Given the description of an element on the screen output the (x, y) to click on. 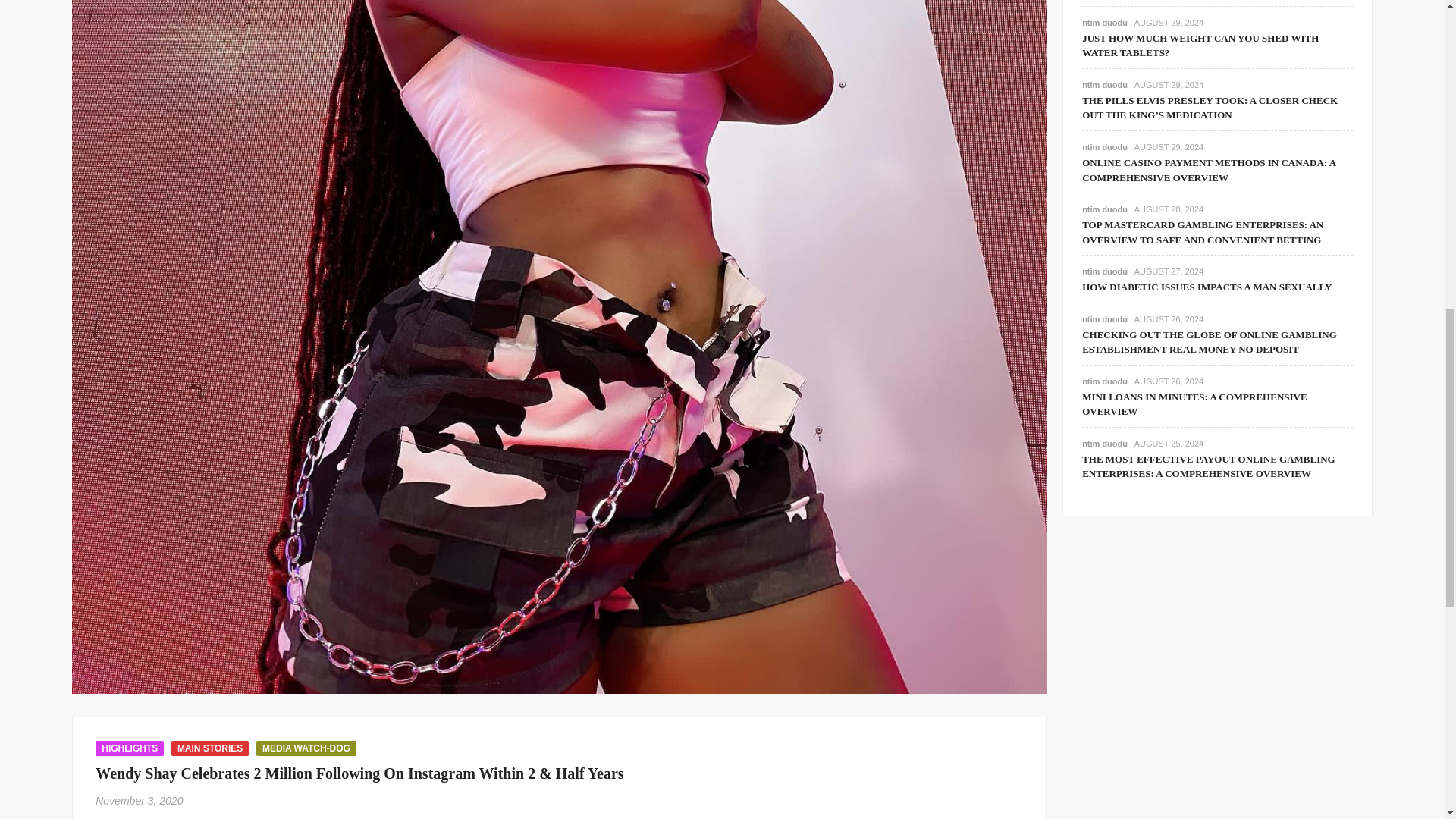
HIGHLIGHTS (129, 747)
MAIN STORIES (209, 747)
November 3, 2020 (139, 800)
MEDIA WATCH-DOG (306, 747)
